Given the description of an element on the screen output the (x, y) to click on. 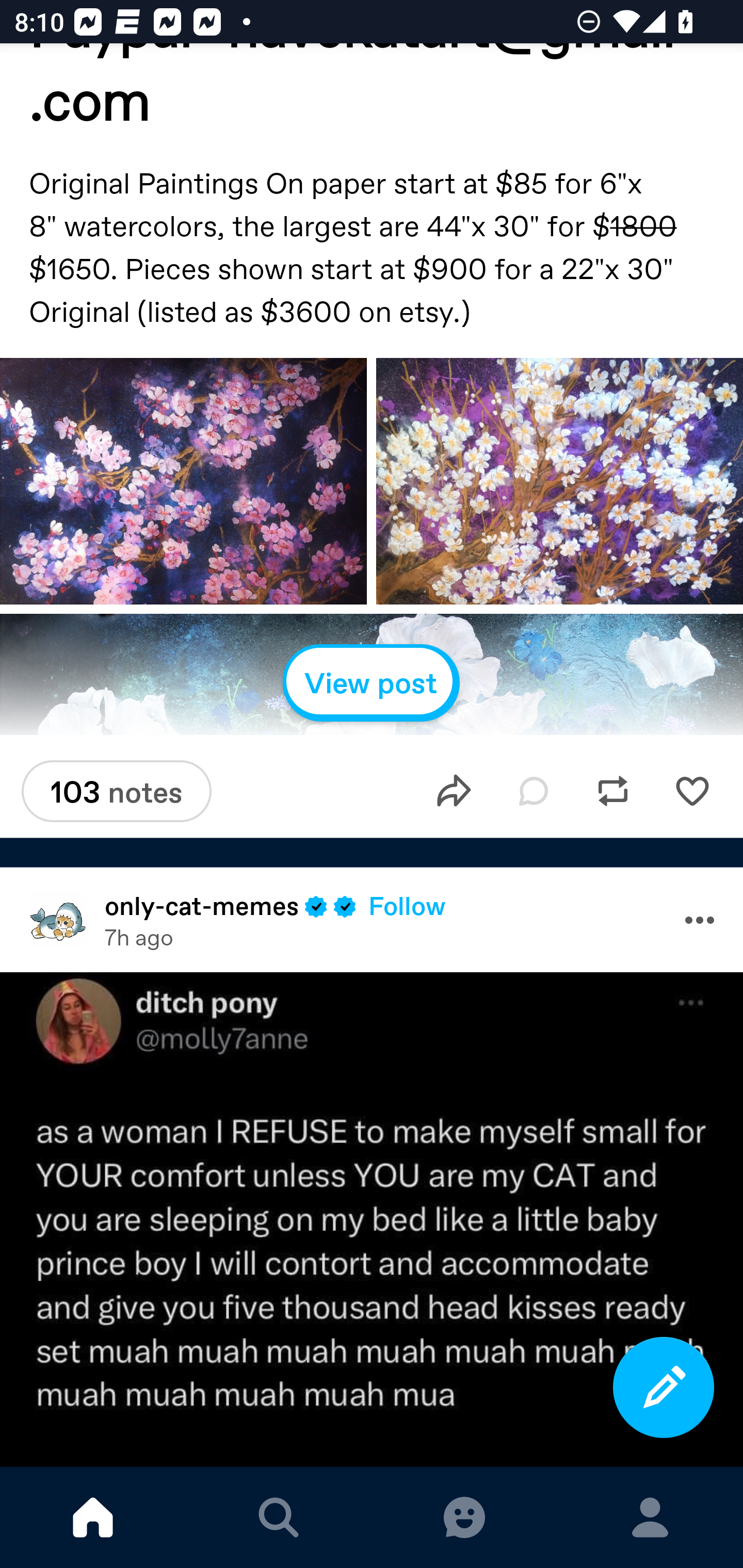
View post (371, 682)
Share post to message (454, 791)
Reblog (612, 791)
Like (691, 791)
103 notes (116, 790)
Follow (406, 905)
Compose a new post (663, 1387)
DASHBOARD (92, 1517)
EXPLORE (278, 1517)
MESSAGES (464, 1517)
ACCOUNT (650, 1517)
